Given the description of an element on the screen output the (x, y) to click on. 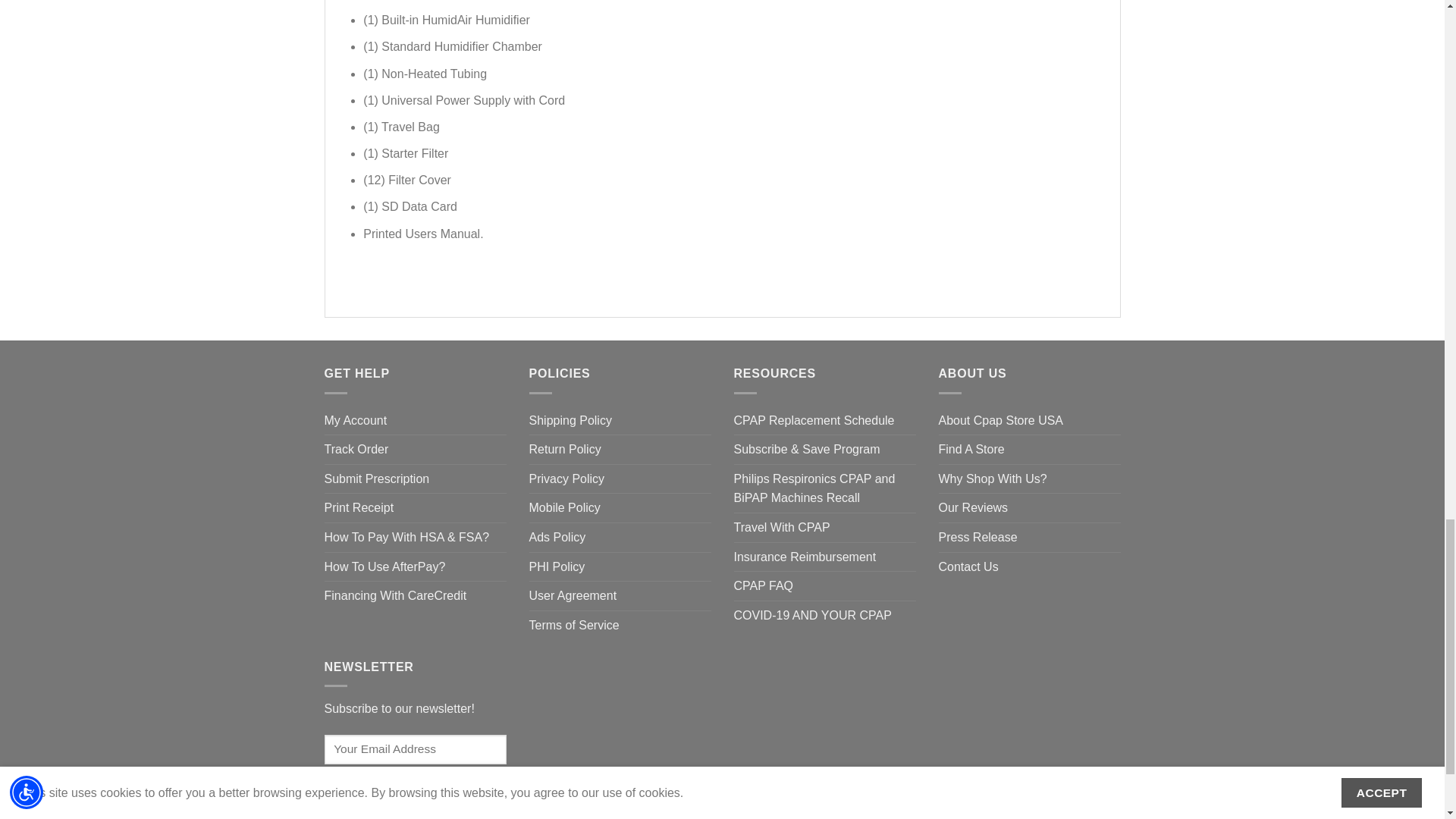
Submit (362, 790)
